Given the description of an element on the screen output the (x, y) to click on. 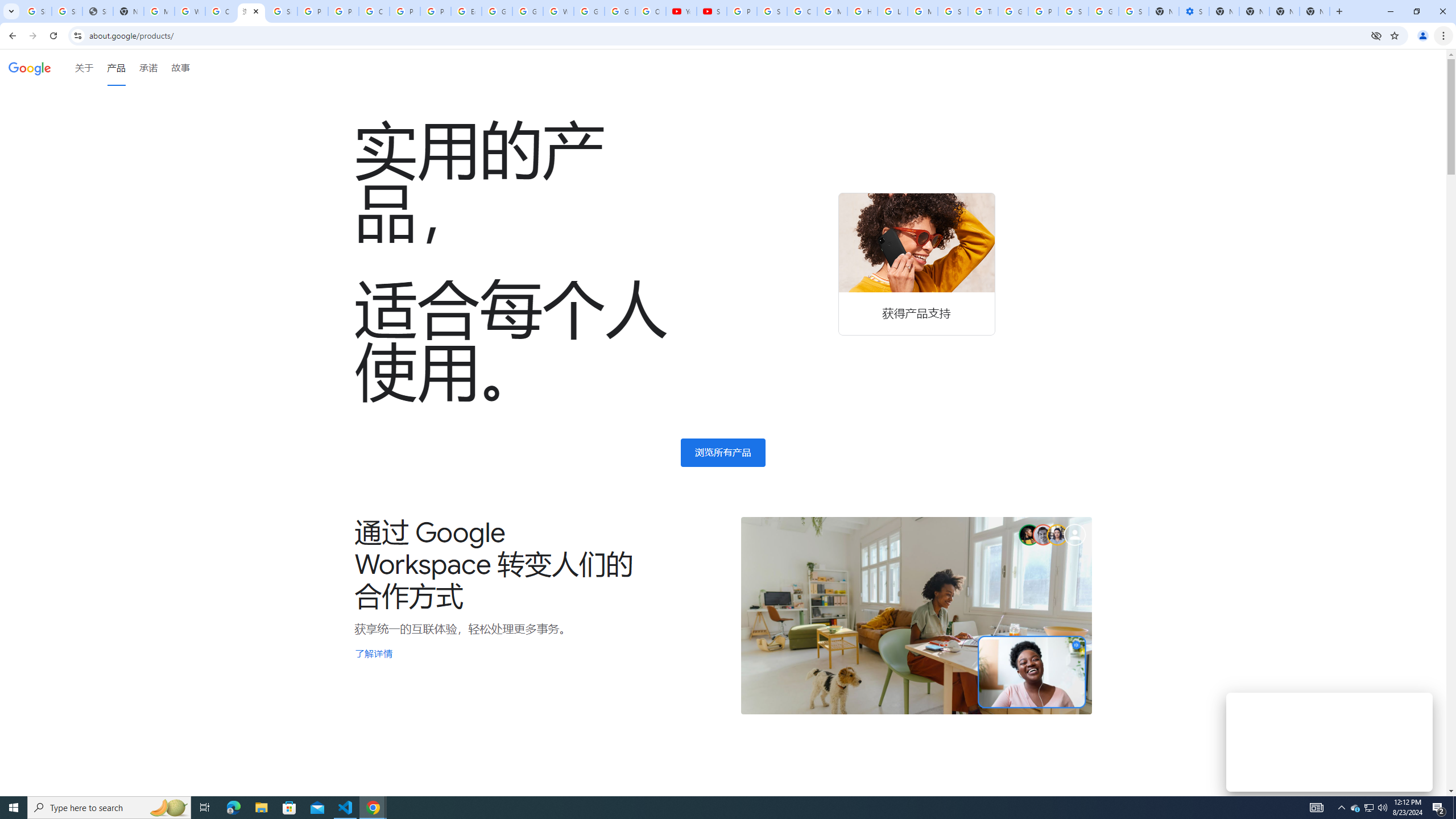
Who is my administrator? - Google Account Help (189, 11)
Search our Doodle Library Collection - Google Doodles (952, 11)
Welcome to My Activity (558, 11)
Google Account (619, 11)
Google Cybersecurity Innovations - Google Safety Center (1103, 11)
